Given the description of an element on the screen output the (x, y) to click on. 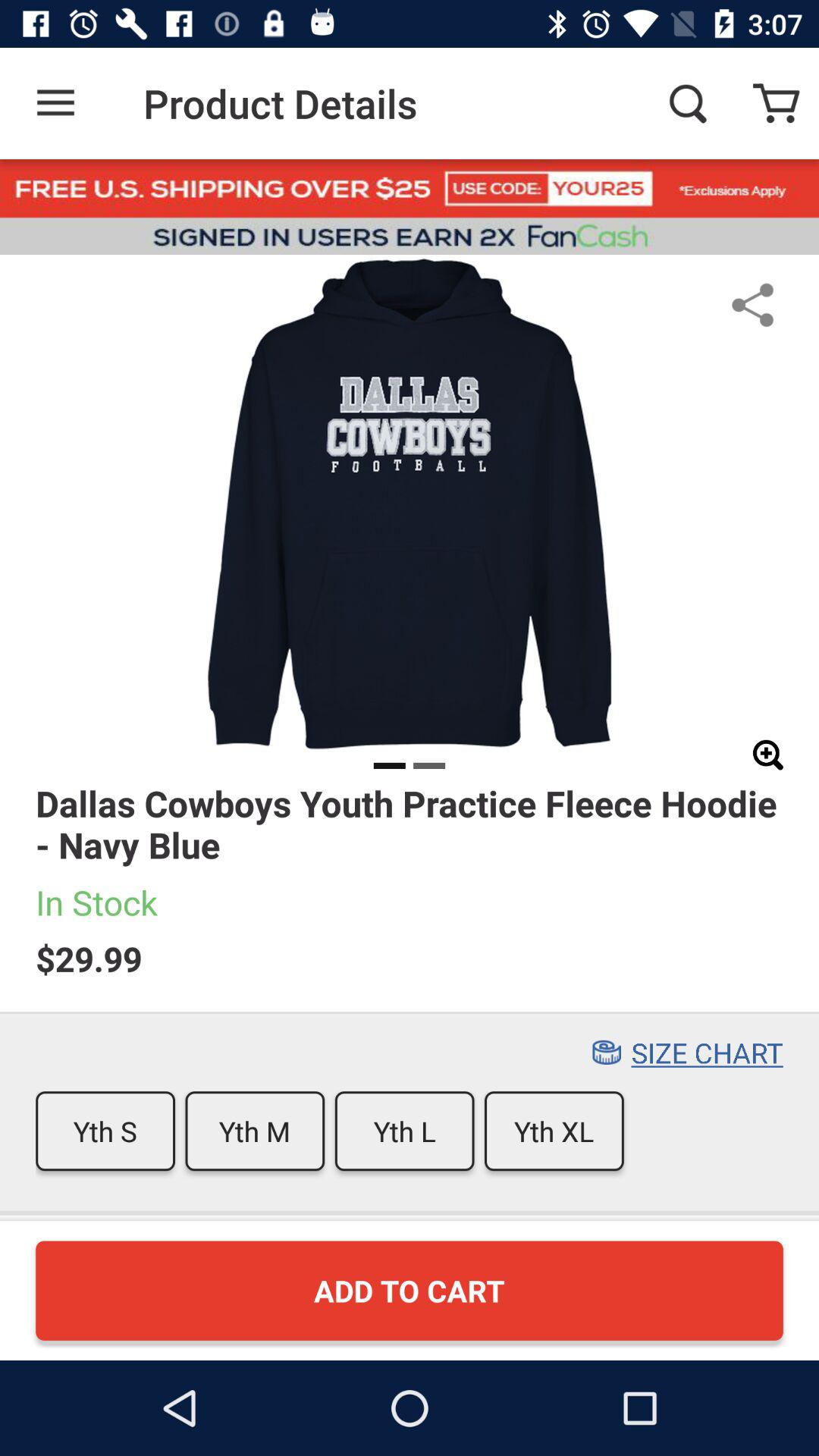
select item next to yth s (254, 1131)
